Given the description of an element on the screen output the (x, y) to click on. 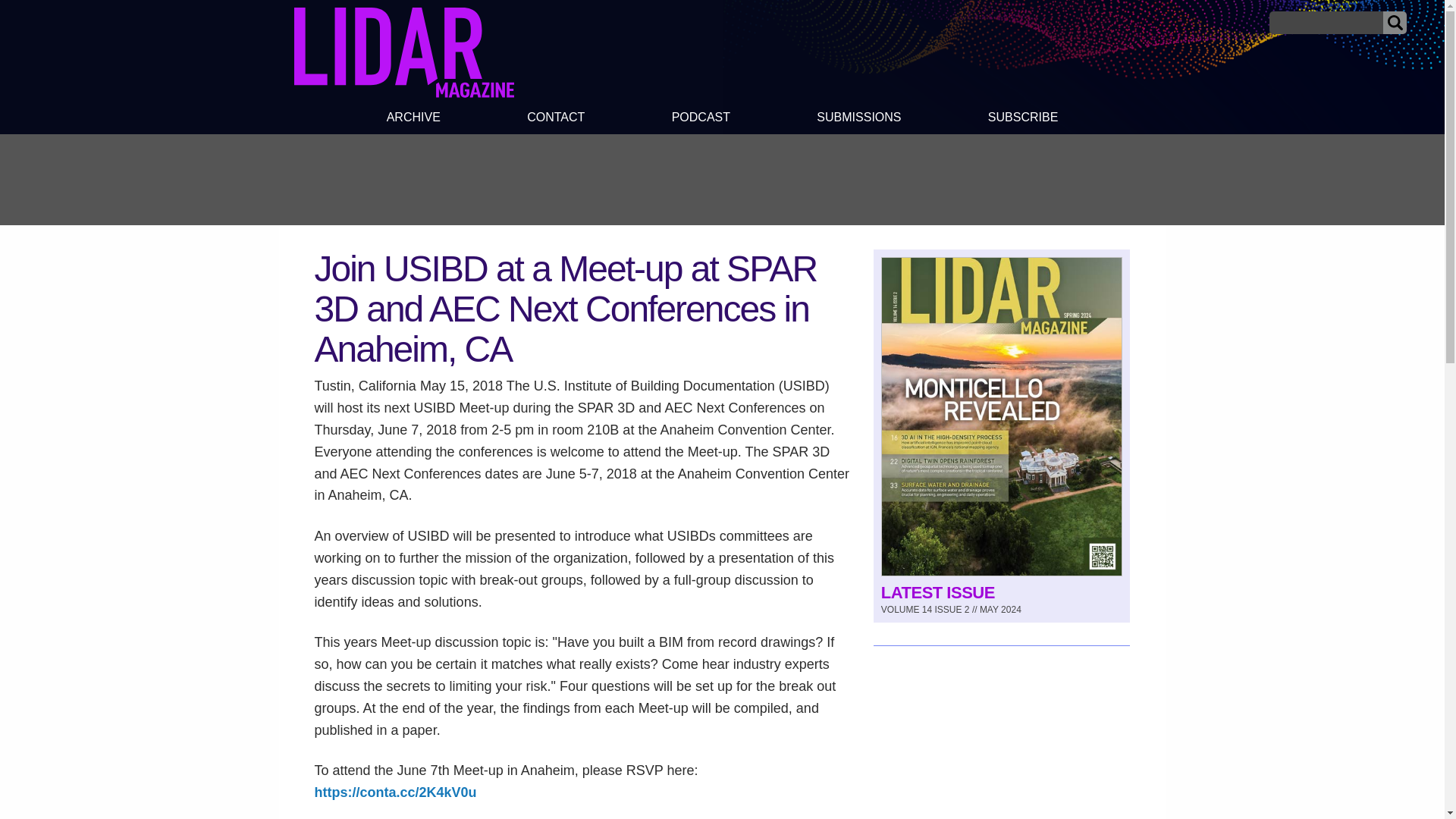
Submit (1394, 22)
LIDAR Magazine (403, 52)
SUBSCRIBE (1023, 119)
Search for: (1326, 22)
Submit (1394, 22)
LIDAR Magazine (403, 92)
Submit (1394, 22)
CONTACT (555, 119)
3rd party ad content (721, 179)
ARCHIVE (412, 119)
SUBMISSIONS (858, 119)
PODCAST (700, 119)
